Given the description of an element on the screen output the (x, y) to click on. 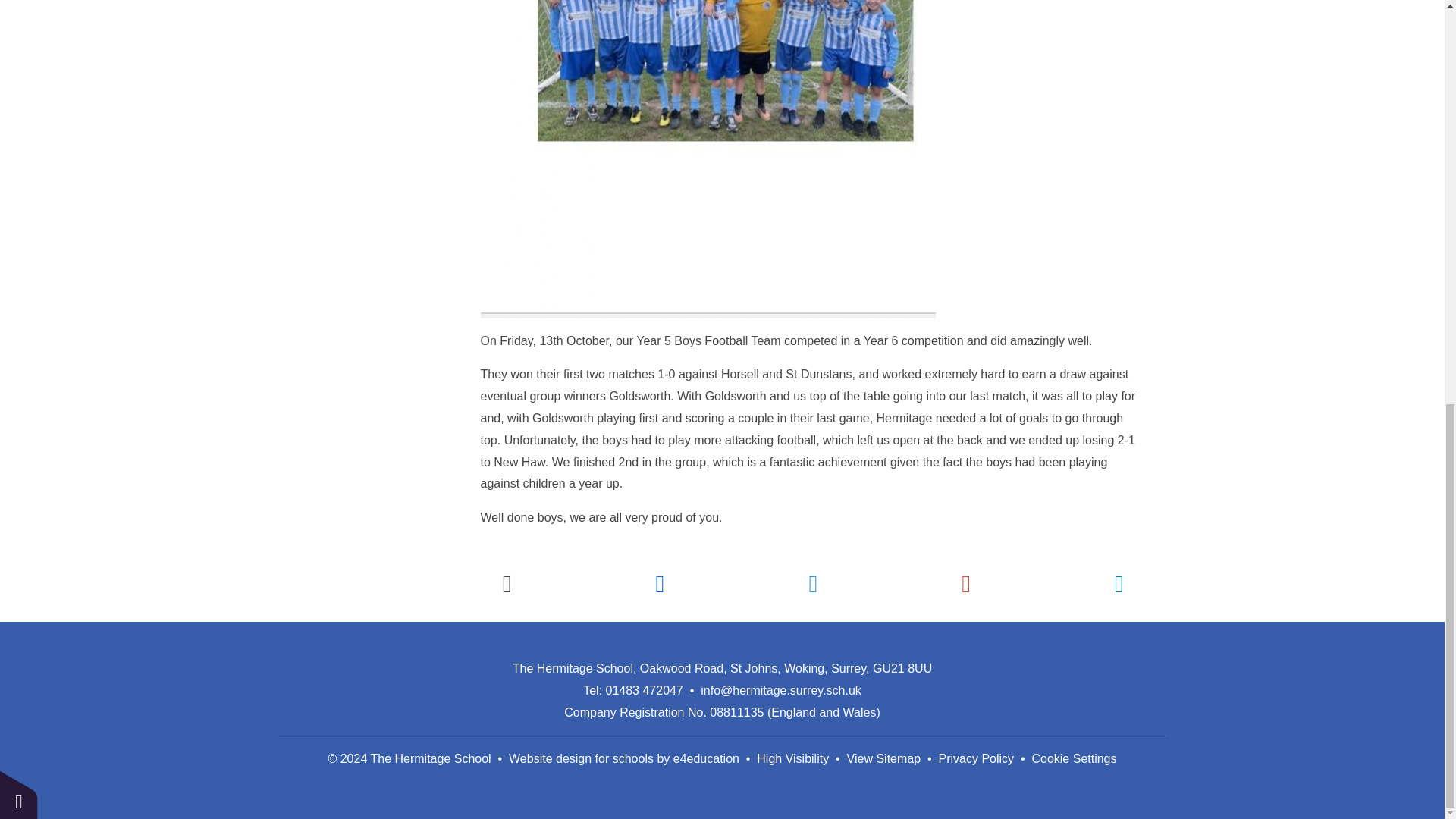
Cookie Settings (1073, 758)
Cookie Settings (18, 10)
